Given the description of an element on the screen output the (x, y) to click on. 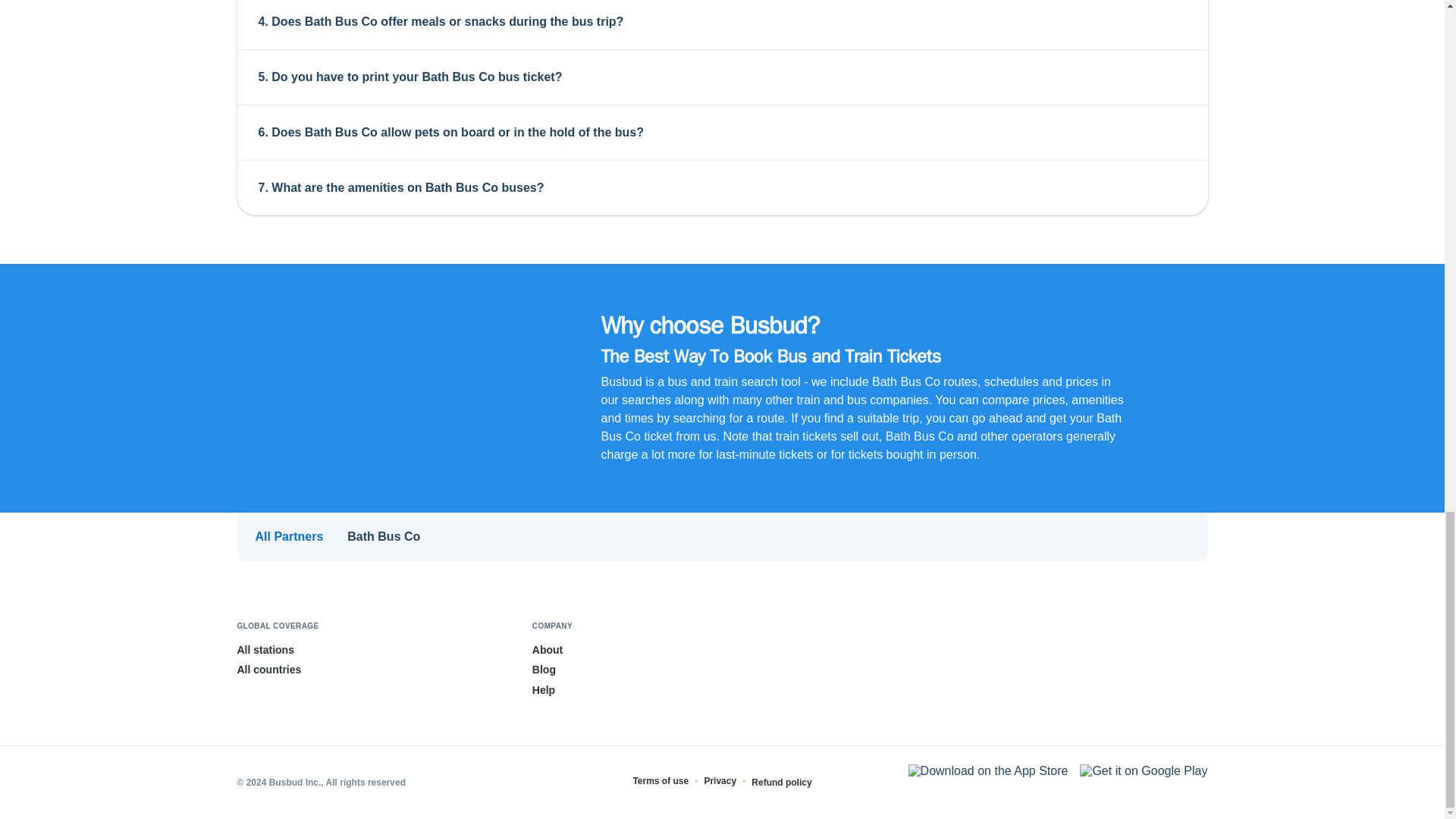
All countries (268, 669)
About (547, 649)
All stations (264, 649)
All Partners (288, 536)
